Given the description of an element on the screen output the (x, y) to click on. 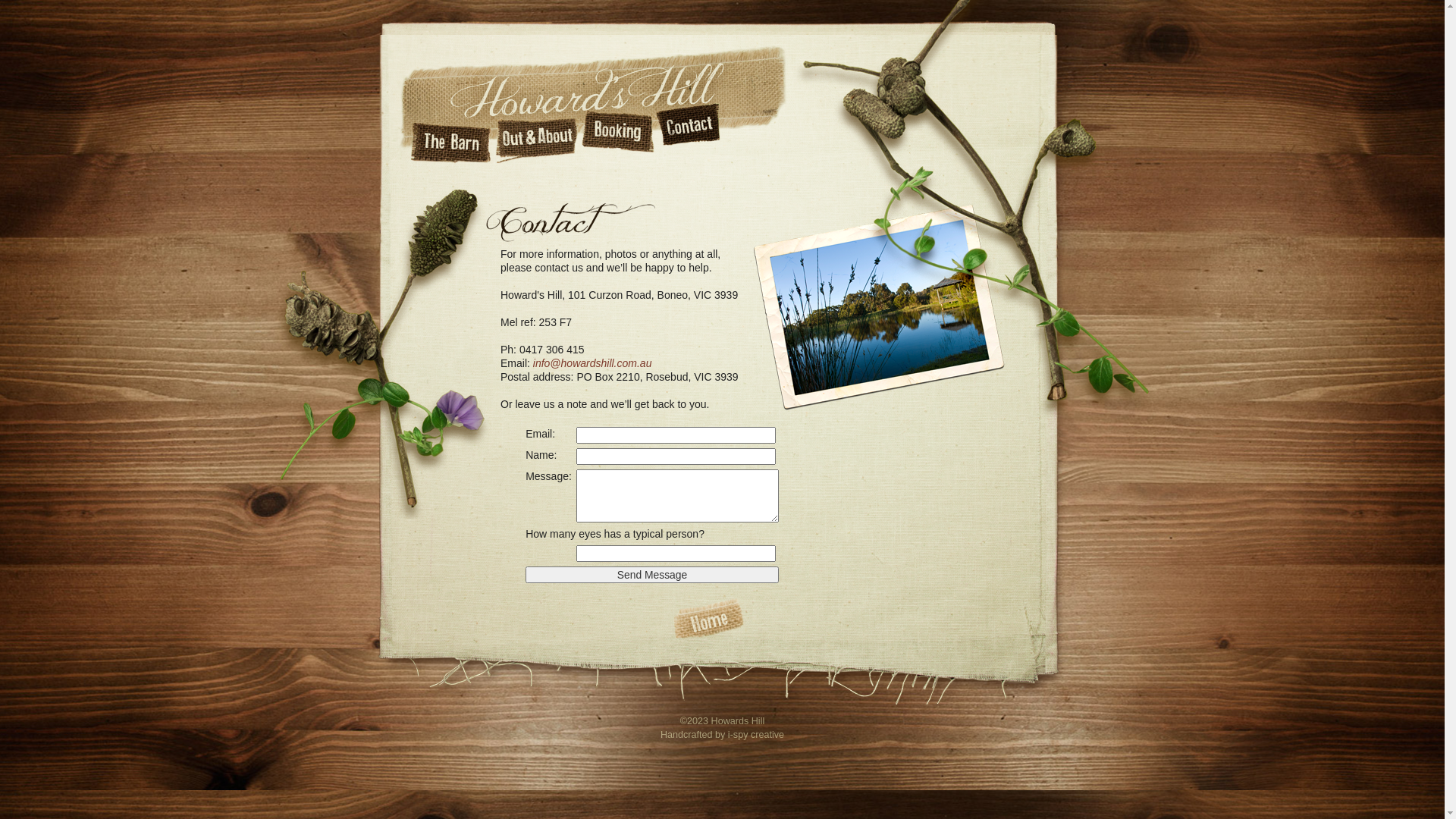
info@howardshill.com.au Element type: text (592, 363)
Handcrafted by i-spy creative Element type: text (722, 734)
Send Message Element type: text (651, 574)
Home Element type: hover (706, 618)
